Given the description of an element on the screen output the (x, y) to click on. 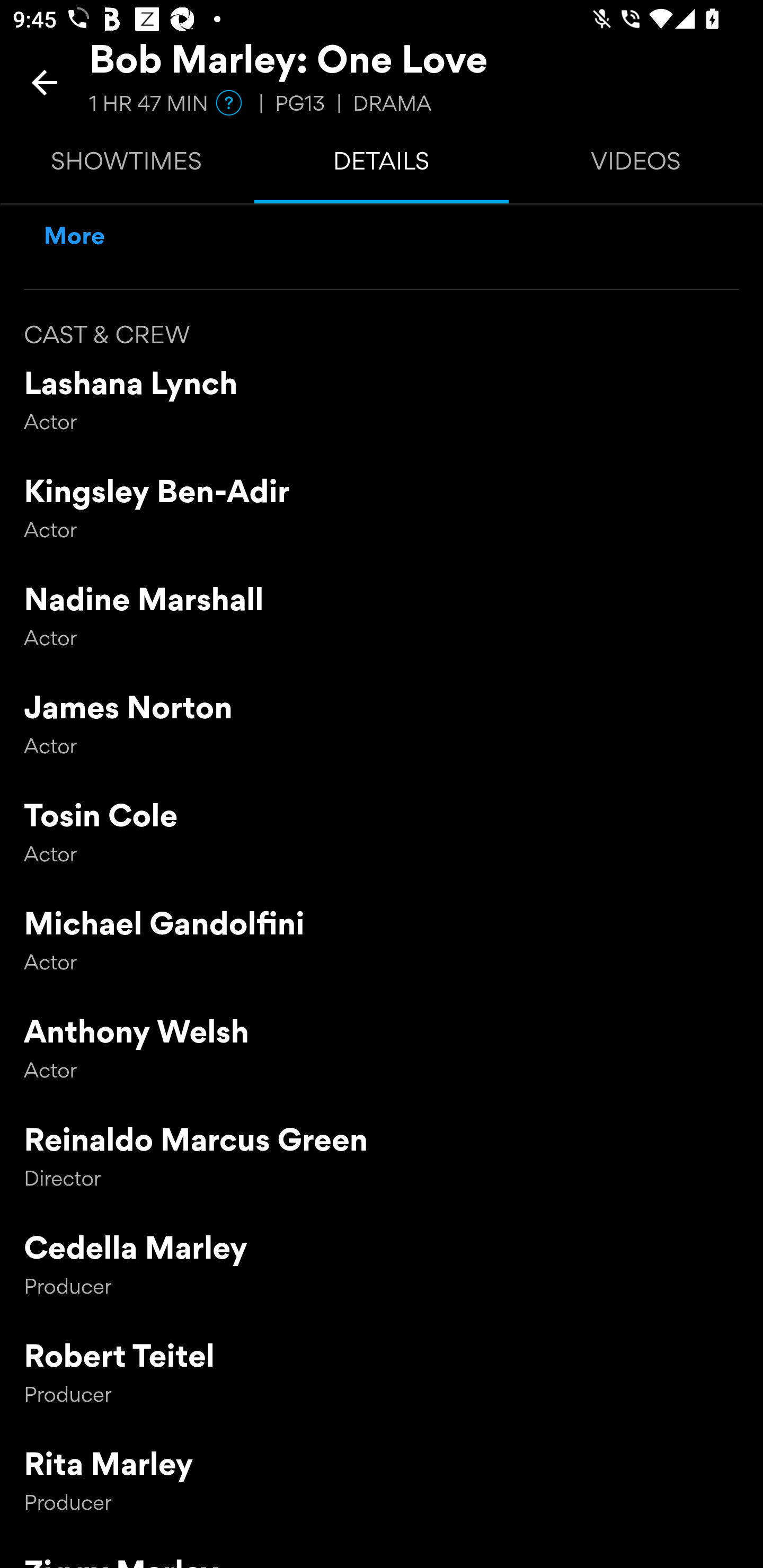
Back (44, 82)
SHOWTIMES
Tab 1 of 3 (127, 165)
DETAILS
Tab 2 of 3 (381, 165)
VIDEOS
Tab 3 of 3 (635, 165)
